Given the description of an element on the screen output the (x, y) to click on. 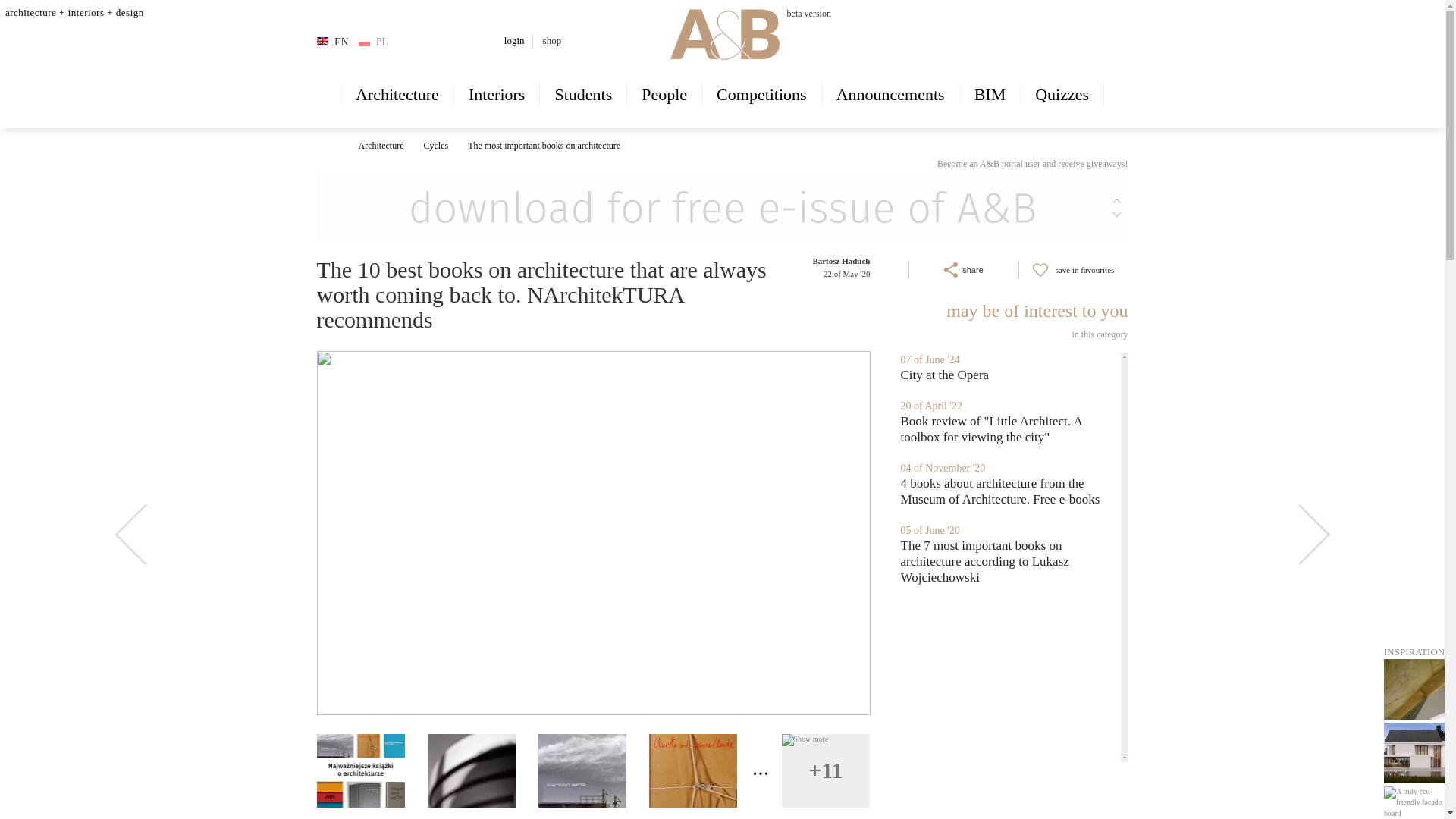
login (513, 40)
Competitions (761, 94)
Interiors (496, 94)
Announcements (889, 94)
shop (552, 40)
Architecture (397, 94)
Students (582, 94)
People (664, 94)
